Given the description of an element on the screen output the (x, y) to click on. 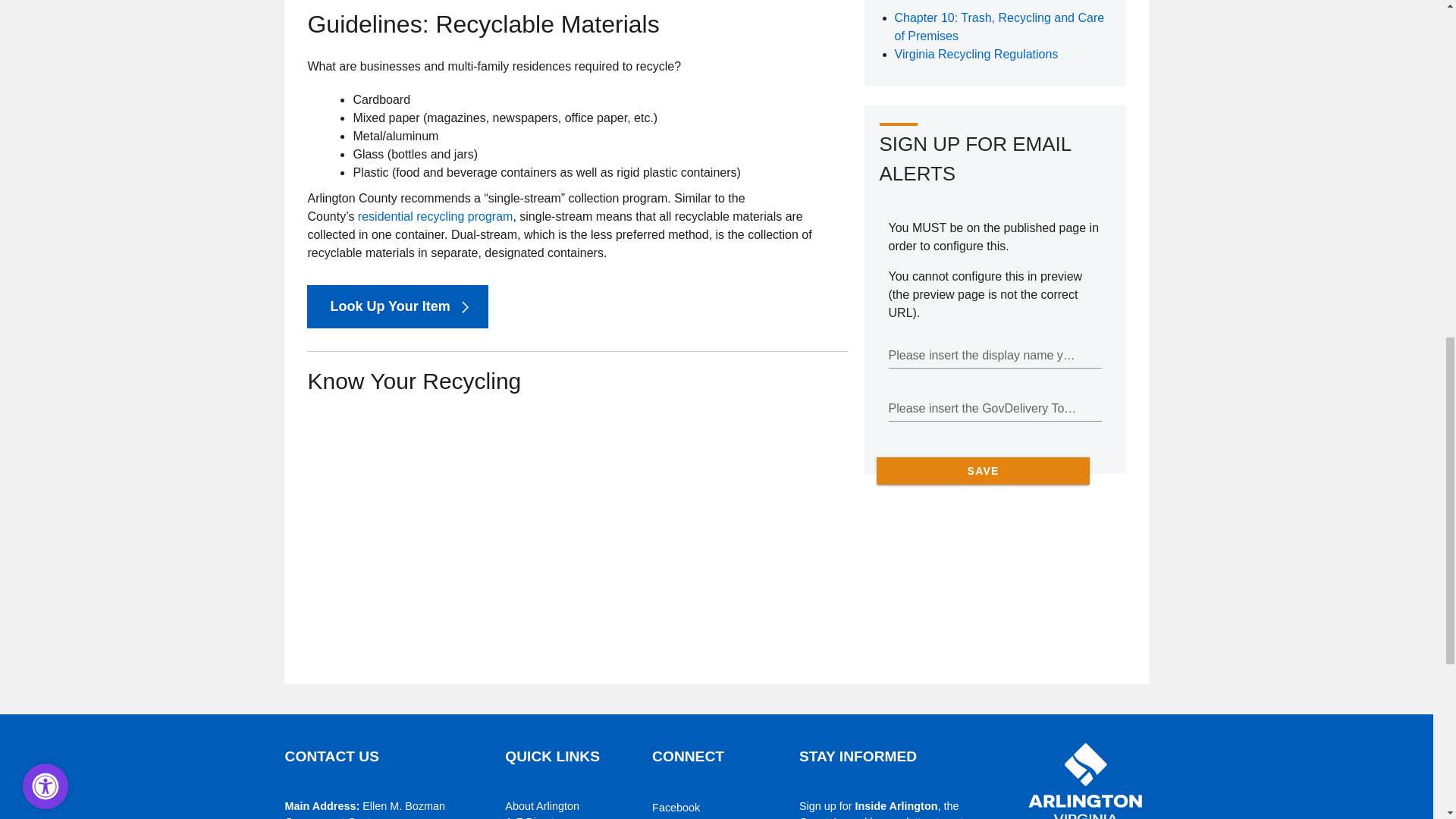
YouTube video player (519, 524)
Arlington County Logo (1086, 775)
